Given the description of an element on the screen output the (x, y) to click on. 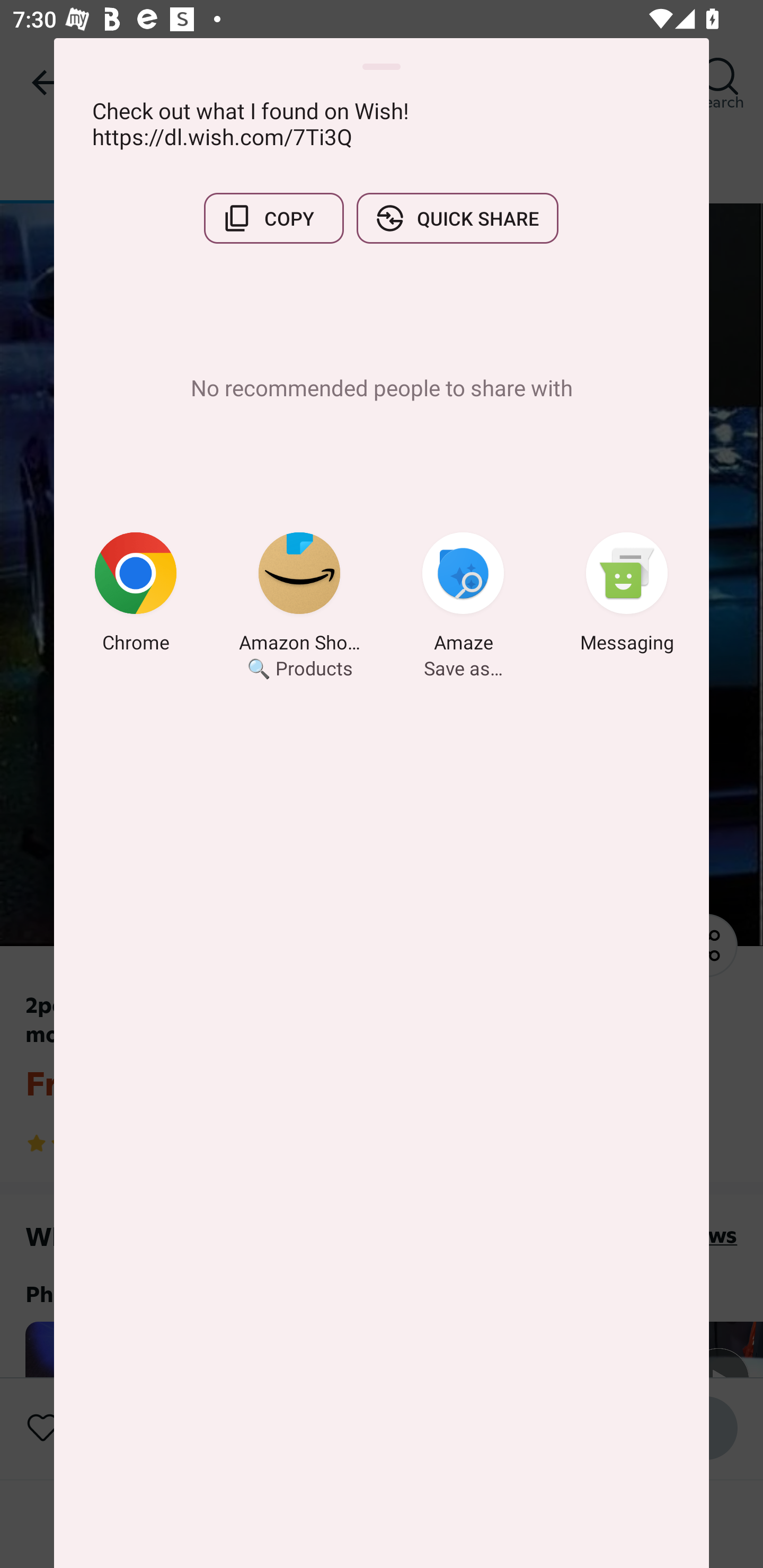
COPY (273, 218)
QUICK SHARE (457, 218)
Chrome (135, 594)
Amazon Shopping 🔍 Products (299, 594)
Amaze Save as… (463, 594)
Messaging (626, 594)
